Given the description of an element on the screen output the (x, y) to click on. 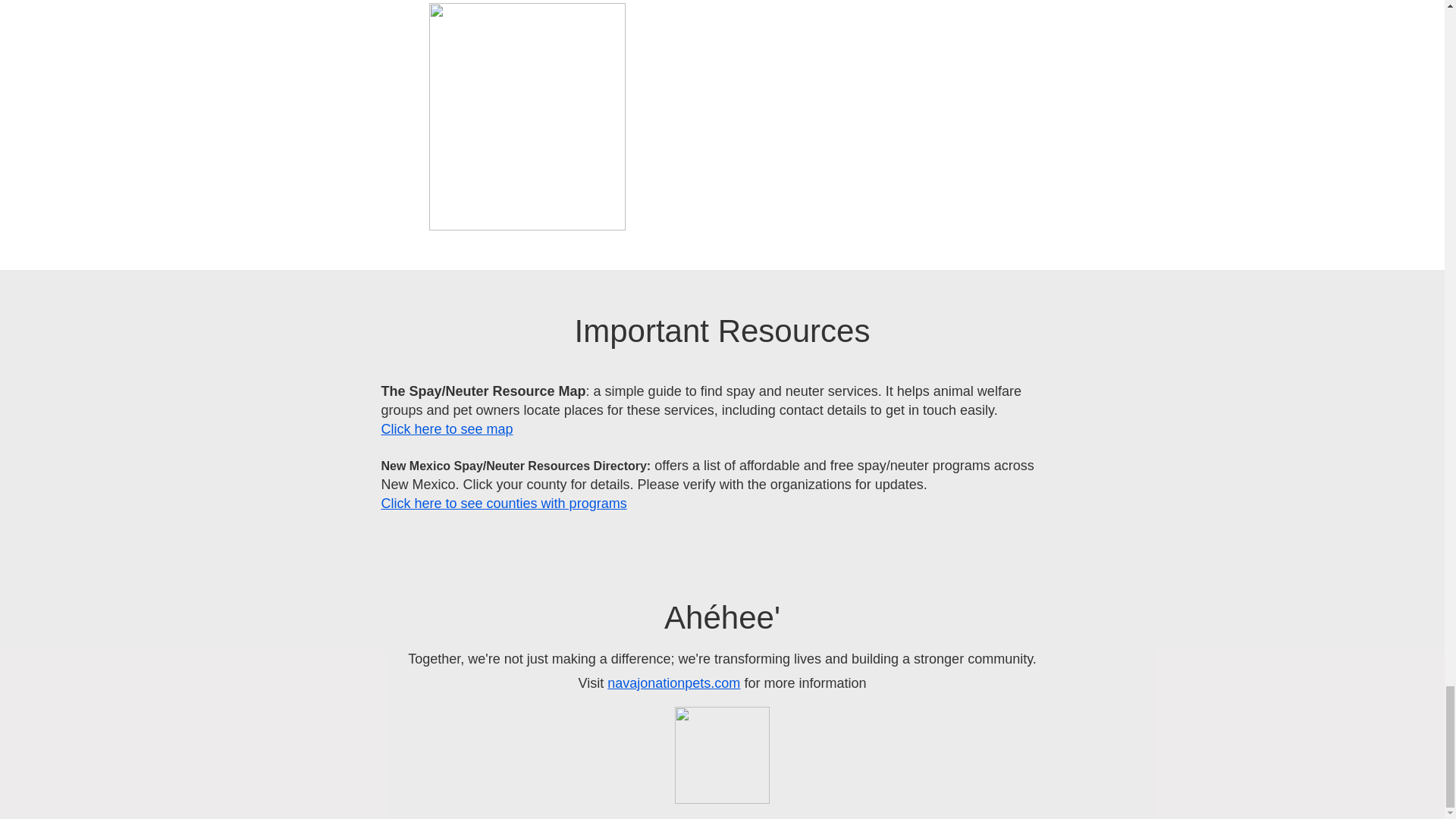
Click here to see map (446, 428)
Click here to see counties with programs (503, 503)
navajonationpets.com (673, 683)
